Given the description of an element on the screen output the (x, y) to click on. 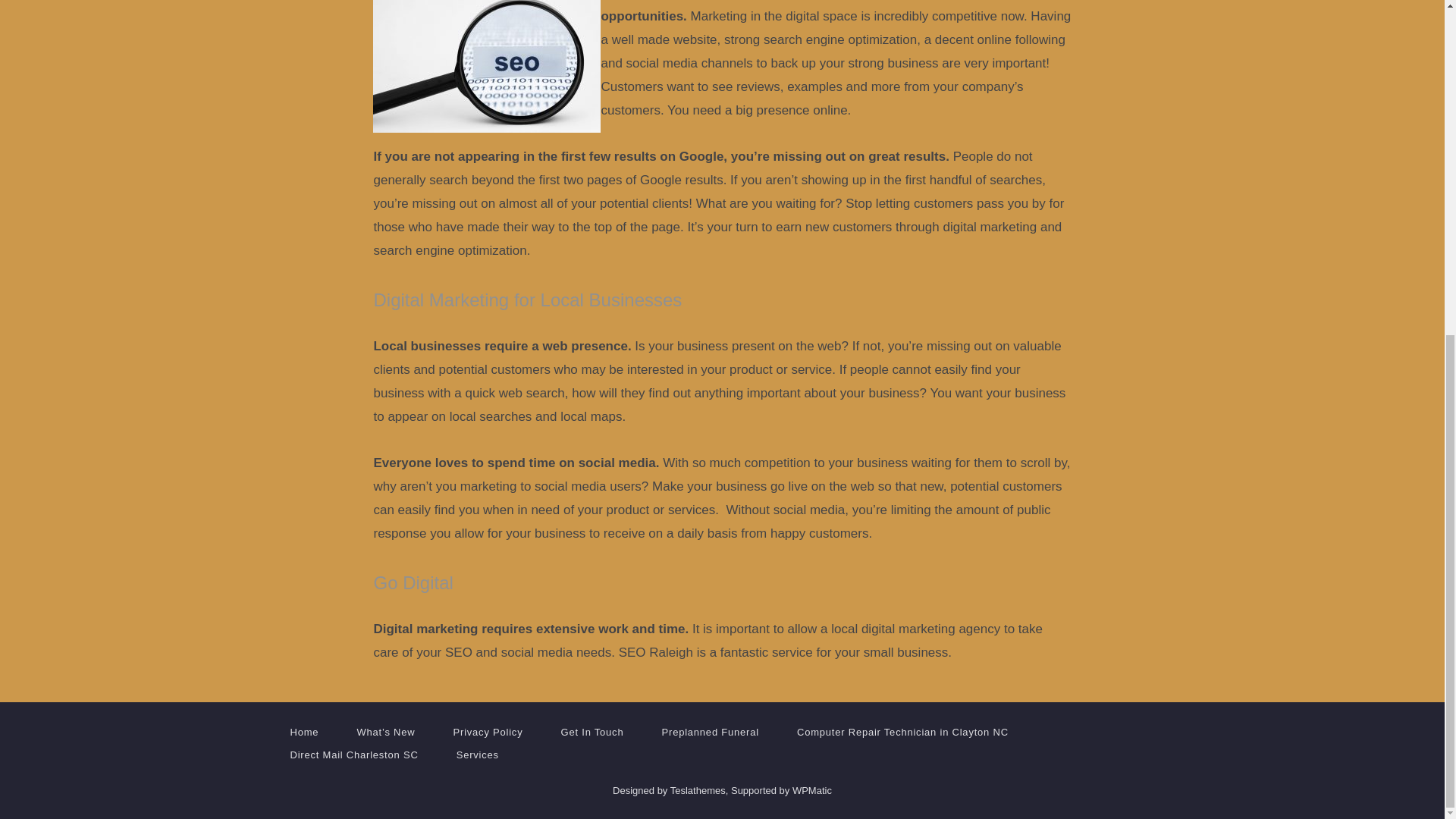
Computer Repair Technician in Clayton NC (902, 731)
Get In Touch (592, 731)
Privacy Policy (487, 731)
Home (303, 731)
social media (809, 509)
SEO Raleigh (655, 652)
Services (478, 754)
Teslathemes (697, 790)
WPMatic (811, 790)
Preplanned Funeral (710, 731)
Direct Mail Charleston SC (353, 754)
